Given the description of an element on the screen output the (x, y) to click on. 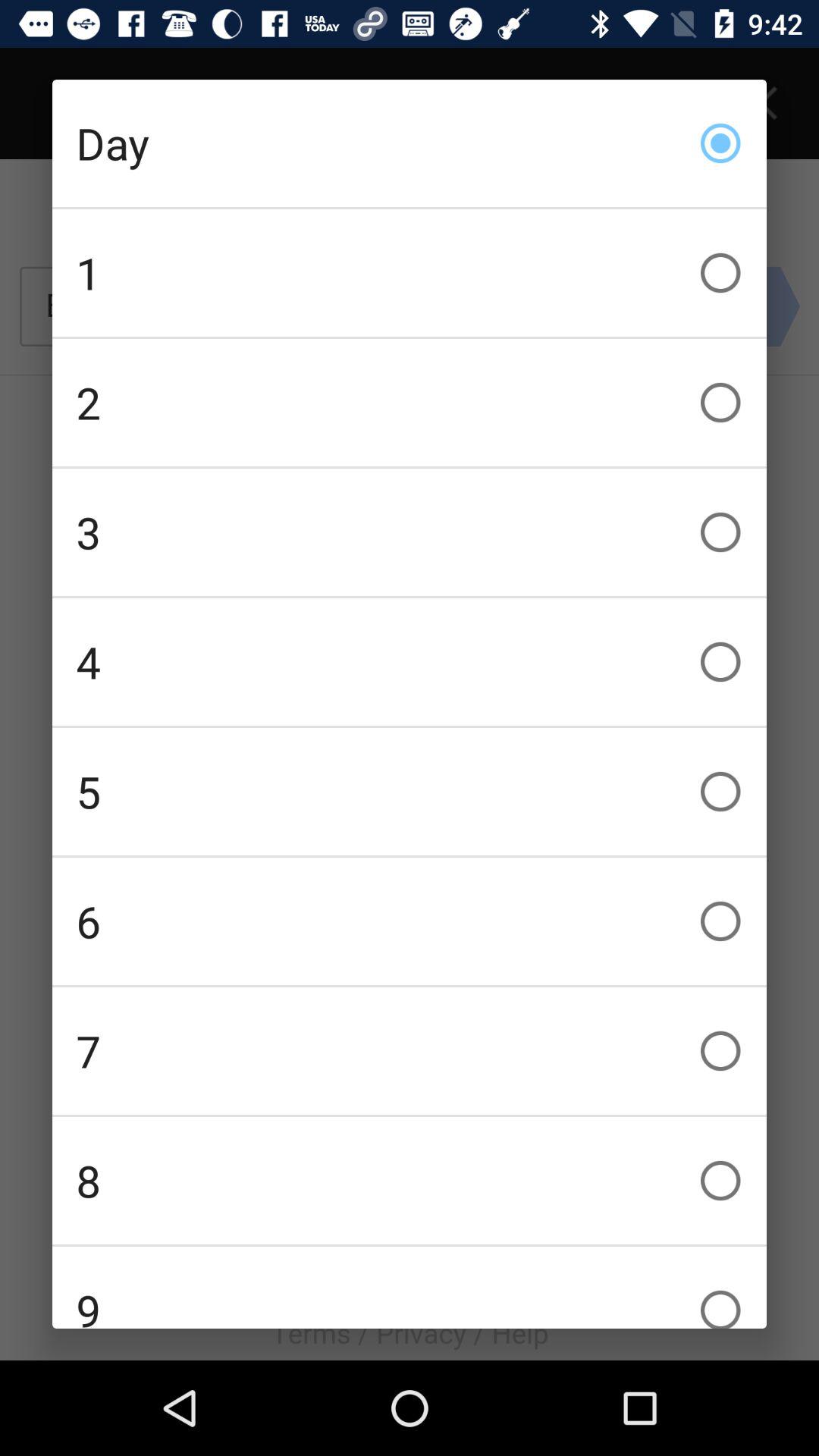
open item below 5 (409, 921)
